Given the description of an element on the screen output the (x, y) to click on. 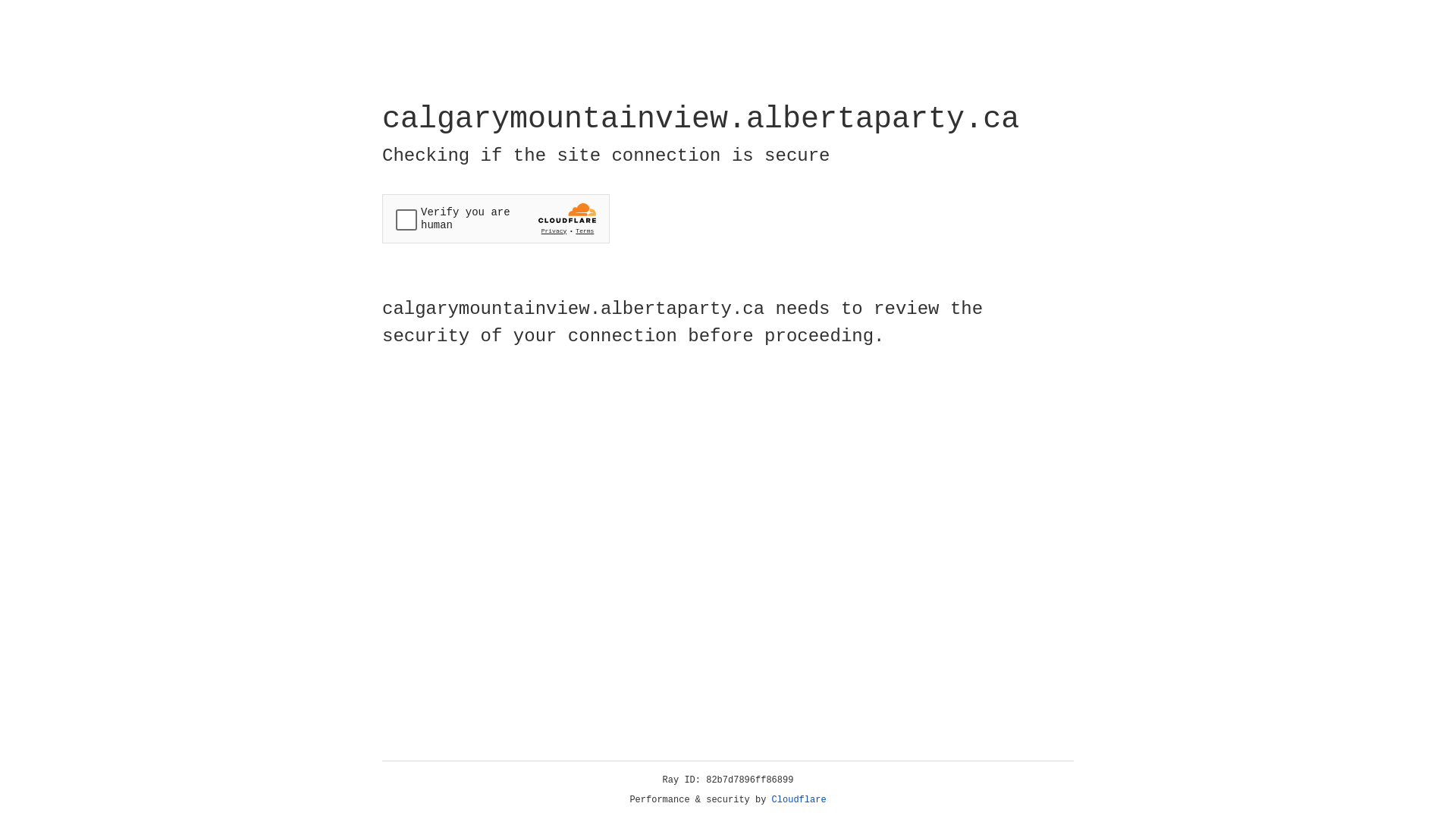
Widget containing a Cloudflare security challenge Element type: hover (495, 218)
Cloudflare Element type: text (798, 799)
